Given the description of an element on the screen output the (x, y) to click on. 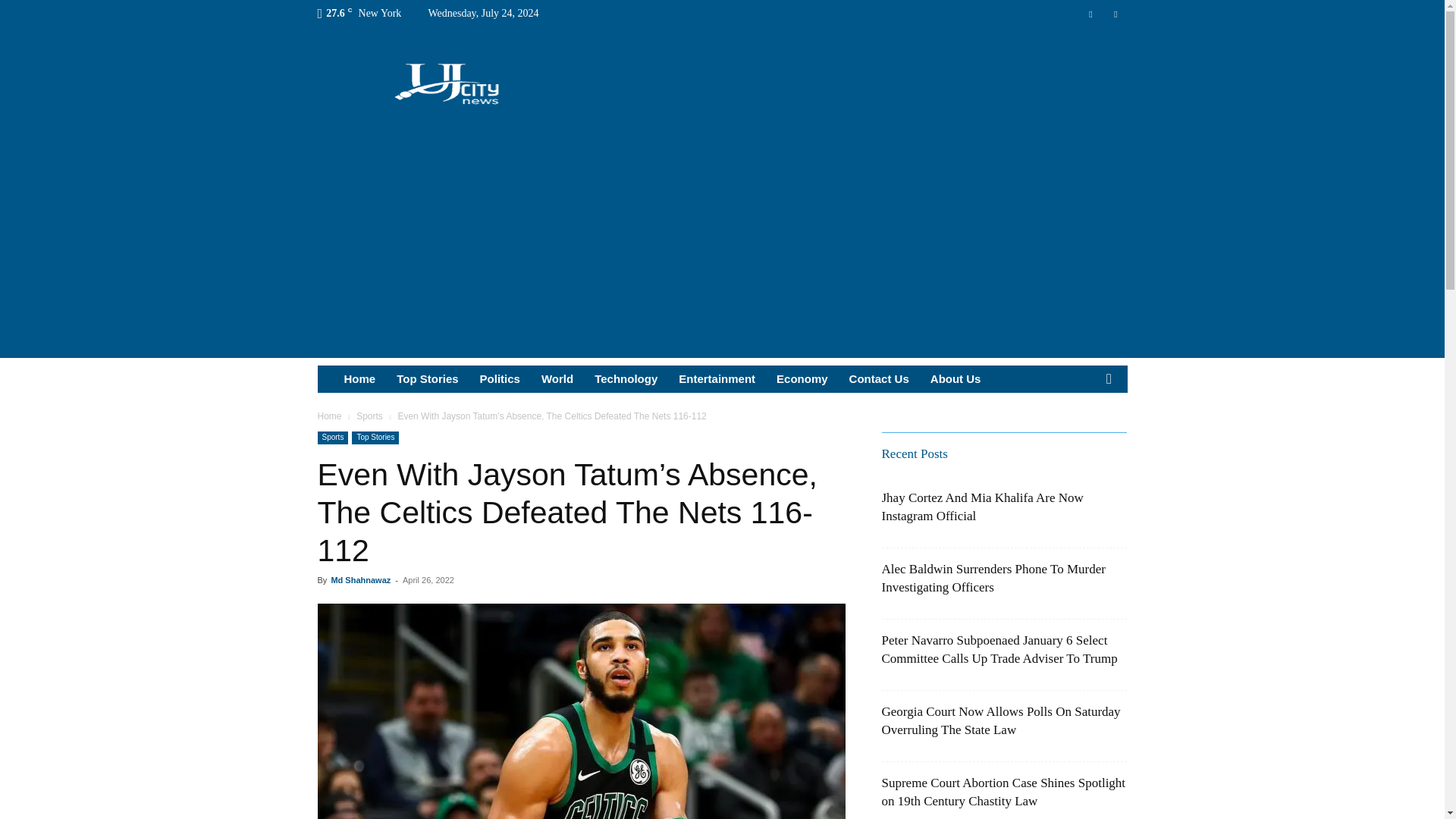
The Union Journal (446, 82)
Top Stories (426, 379)
Contact Us (879, 379)
Entertainment (716, 379)
Sports (369, 416)
Search (1085, 435)
Sports (332, 437)
Jayson Tatum (580, 711)
About Us (955, 379)
Economy (801, 379)
Technology (625, 379)
View all posts in Sports (369, 416)
Home (328, 416)
World (557, 379)
